Given the description of an element on the screen output the (x, y) to click on. 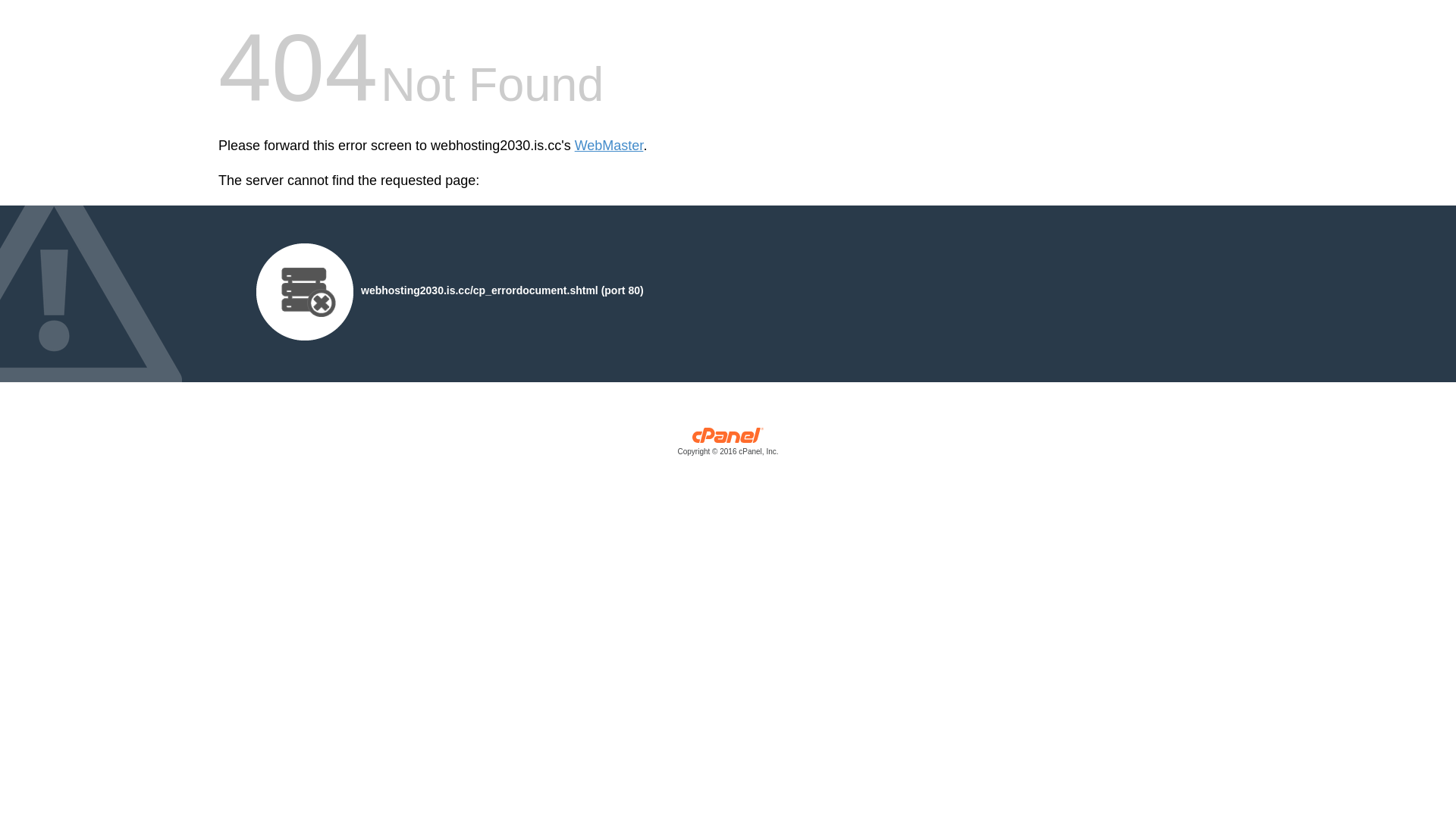
WebMaster Element type: text (608, 145)
